Given the description of an element on the screen output the (x, y) to click on. 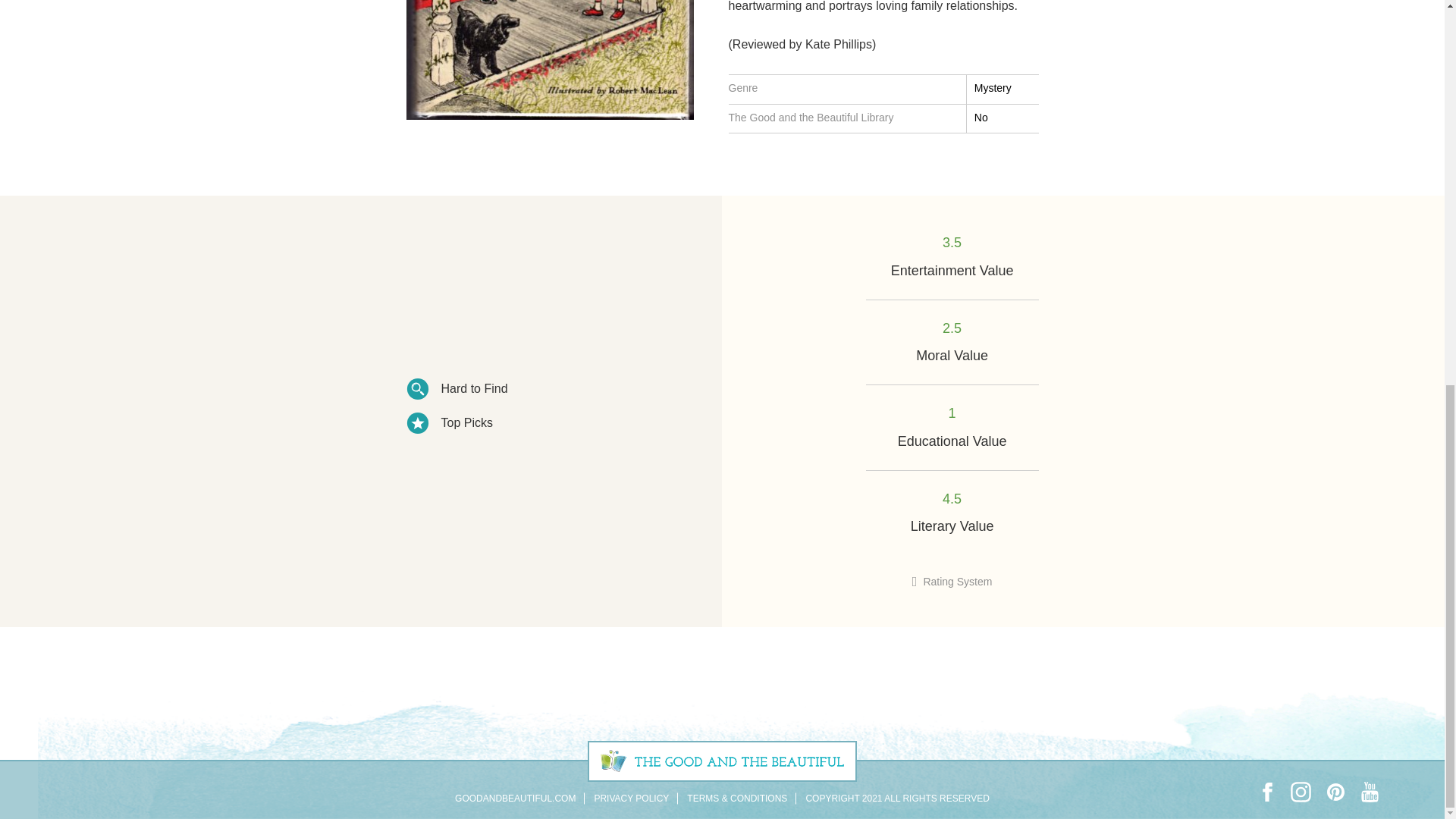
GOODANDBEAUTIFUL.COM (514, 798)
youtube (1369, 792)
facebook (1266, 791)
instagram (1300, 792)
pinterest (1334, 792)
PRIVACY POLICY (631, 798)
